Given the description of an element on the screen output the (x, y) to click on. 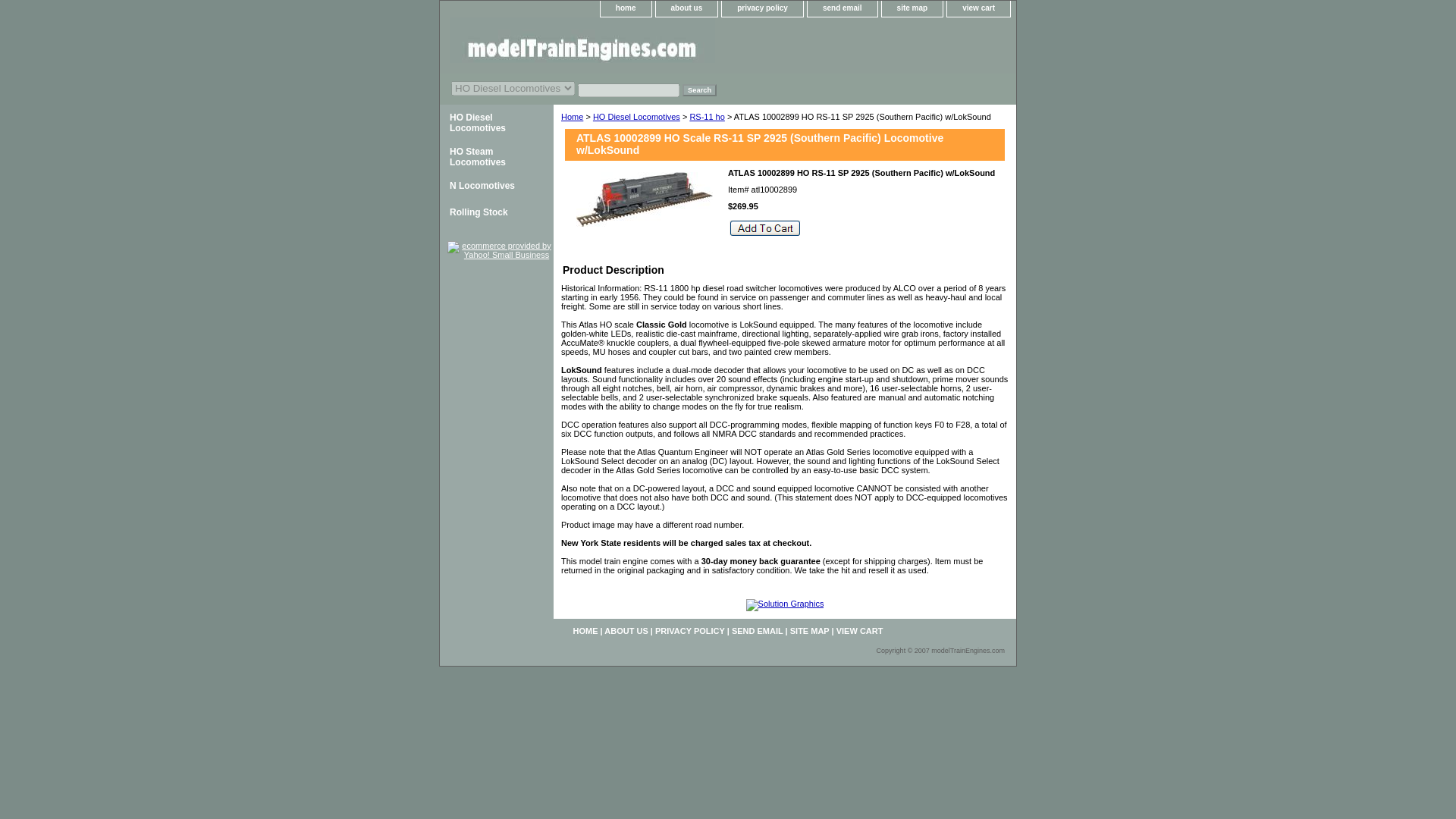
HO Diesel Locomotives (496, 121)
privacy policy (762, 8)
Search (699, 90)
N Locomotives (496, 185)
modelTrainEngines.com (628, 45)
RS-11 ho (705, 116)
view cart (978, 8)
home (624, 8)
about us (686, 8)
Search (699, 90)
Home (571, 116)
PRIVACY POLICY (690, 630)
HO Steam Locomotives (496, 155)
send email (842, 8)
VIEW CART (859, 630)
